Given the description of an element on the screen output the (x, y) to click on. 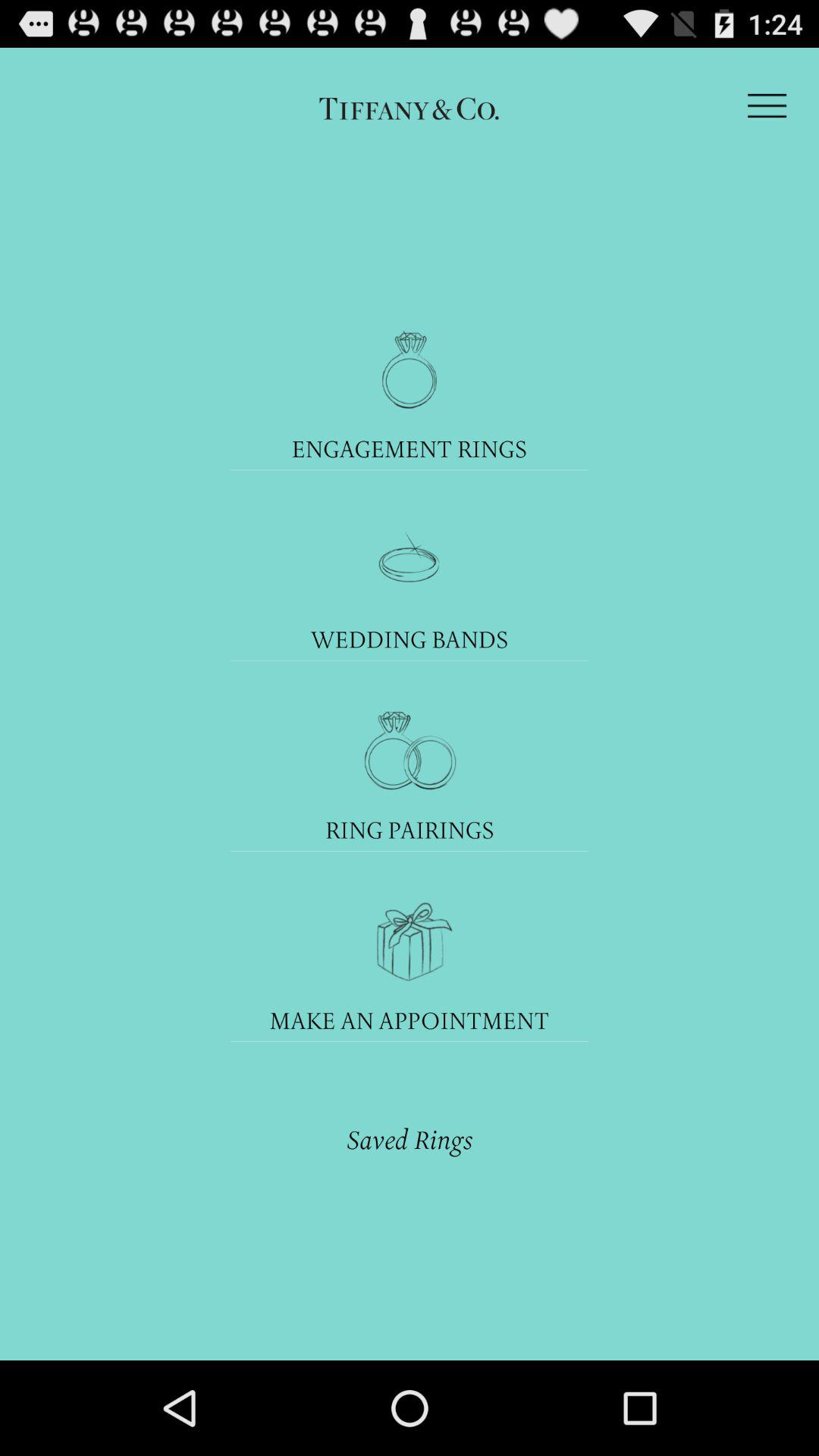
scroll until the wedding bands icon (409, 639)
